Given the description of an element on the screen output the (x, y) to click on. 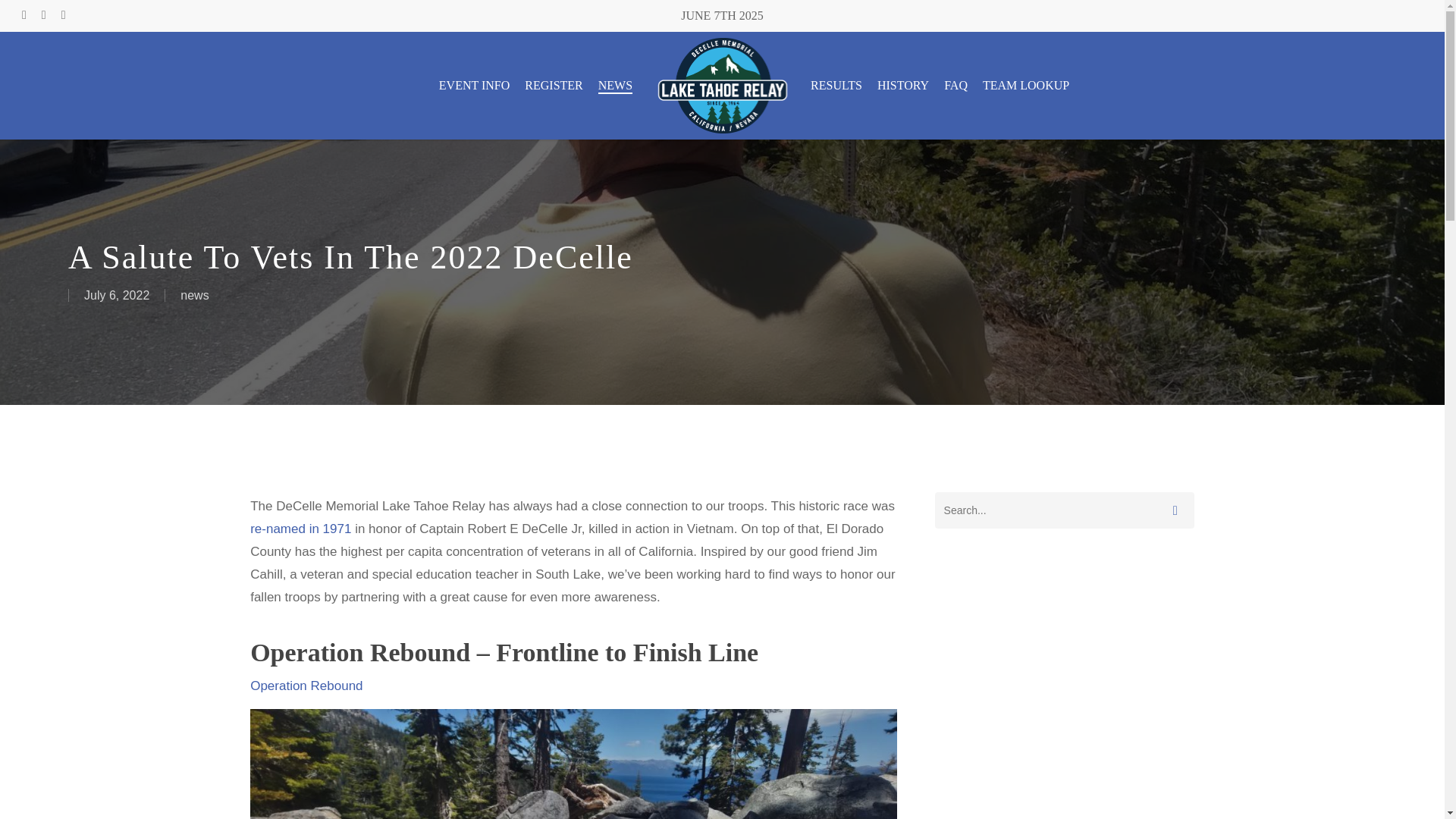
news (194, 295)
YOUTUBE (63, 15)
Search for: (1063, 510)
re-named in 1971 (300, 528)
REGISTER (553, 85)
FAQ (955, 85)
RESULTS (835, 85)
NEWS (614, 85)
HISTORY (902, 85)
TWITTER (23, 15)
EVENT INFO (474, 85)
Operation Rebound (306, 685)
TEAM LOOKUP (1025, 85)
FACEBOOK (44, 15)
